Given the description of an element on the screen output the (x, y) to click on. 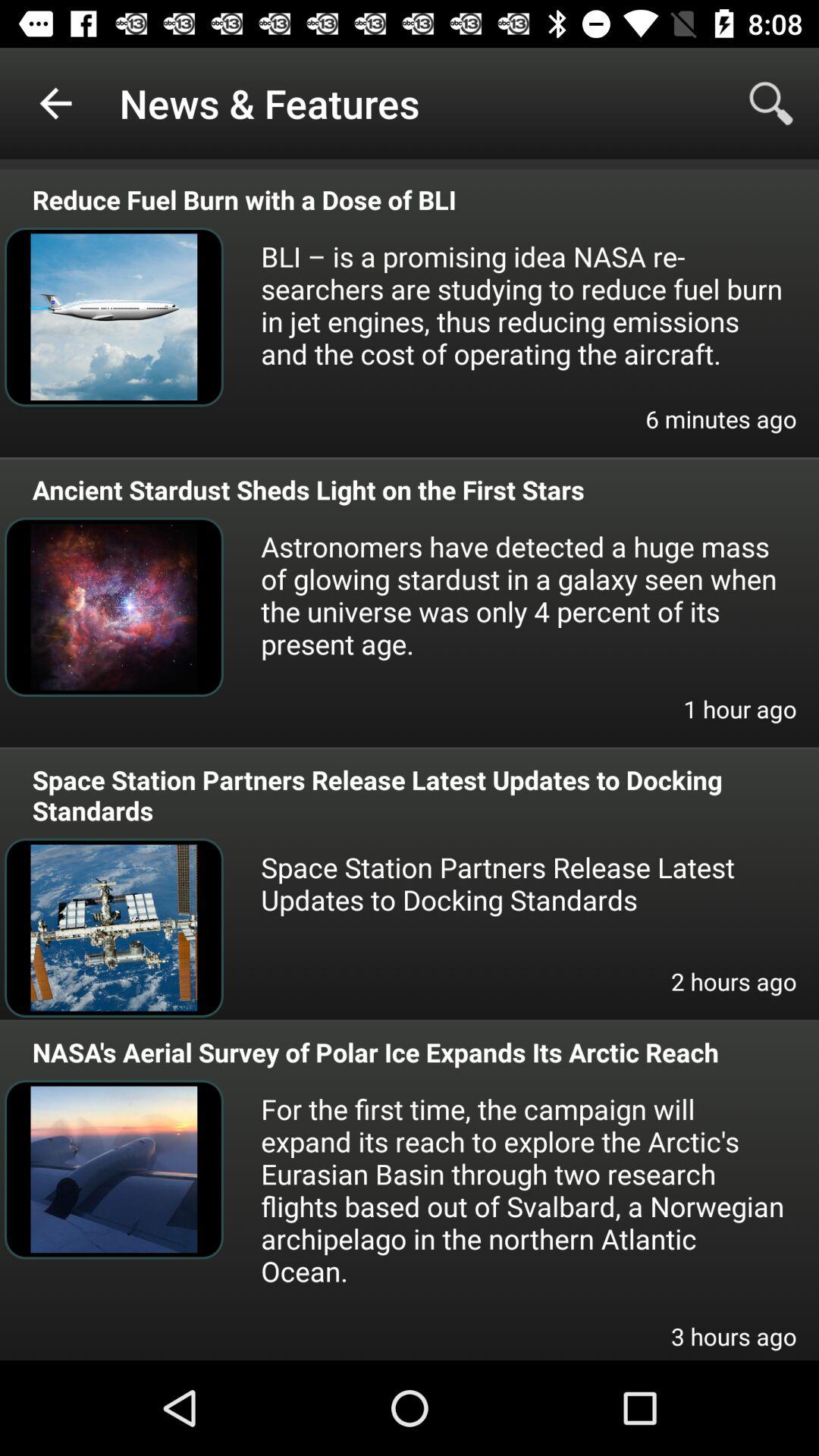
scroll to the astronomers have detected item (523, 594)
